Given the description of an element on the screen output the (x, y) to click on. 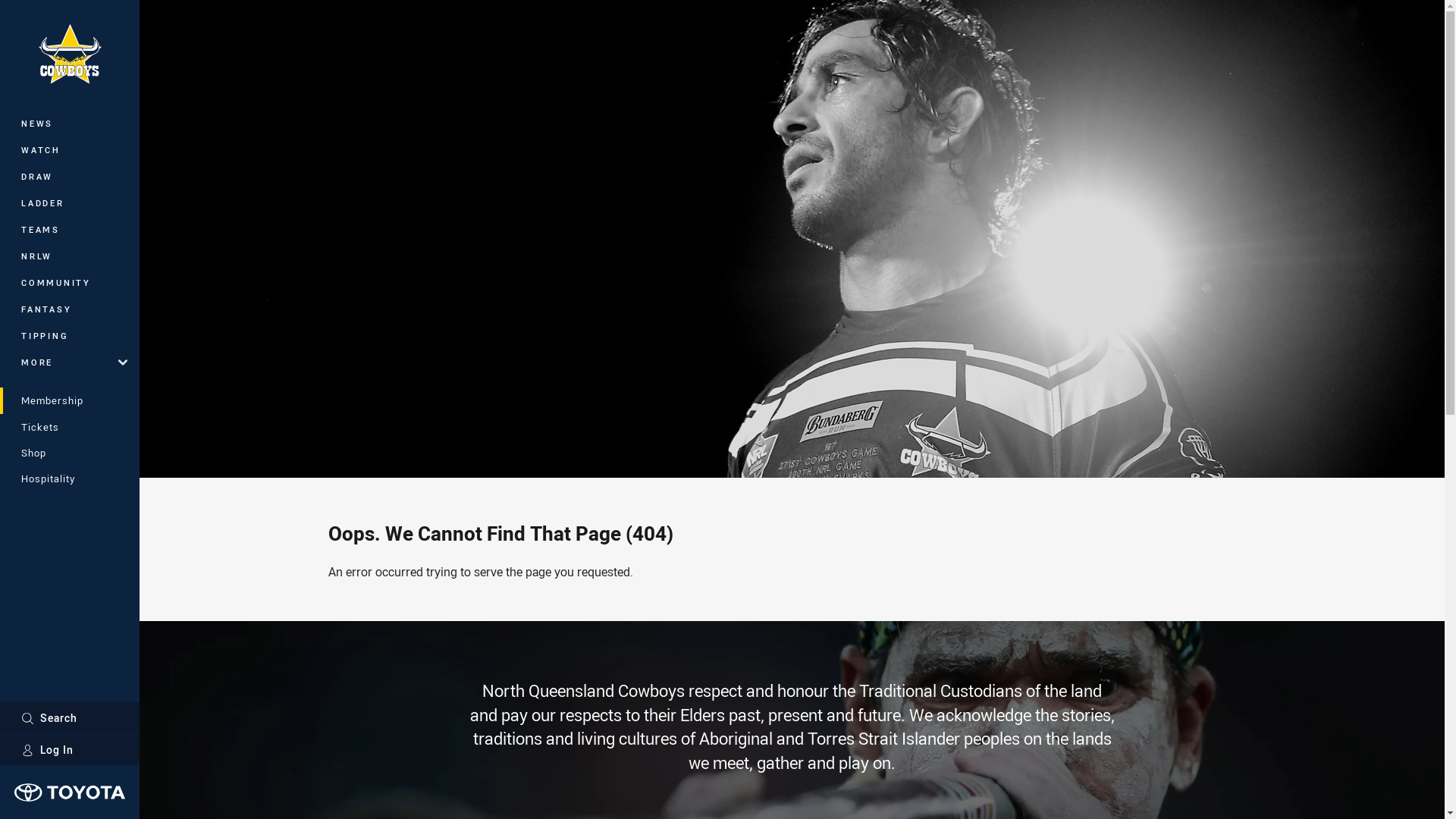
NRLW Element type: text (69, 255)
NEWS Element type: text (69, 122)
COMMUNITY Element type: text (69, 282)
Hospitality Element type: text (69, 478)
Membership Element type: text (69, 400)
TEAMS Element type: text (69, 229)
Log In Element type: text (69, 749)
WATCH Element type: text (69, 149)
Tickets Element type: text (69, 426)
Search Element type: text (69, 717)
TIPPING Element type: text (69, 335)
MORE Element type: text (69, 361)
DRAW Element type: text (69, 176)
Shop Element type: text (69, 452)
LADDER Element type: text (69, 202)
FANTASY Element type: text (69, 308)
